Given the description of an element on the screen output the (x, y) to click on. 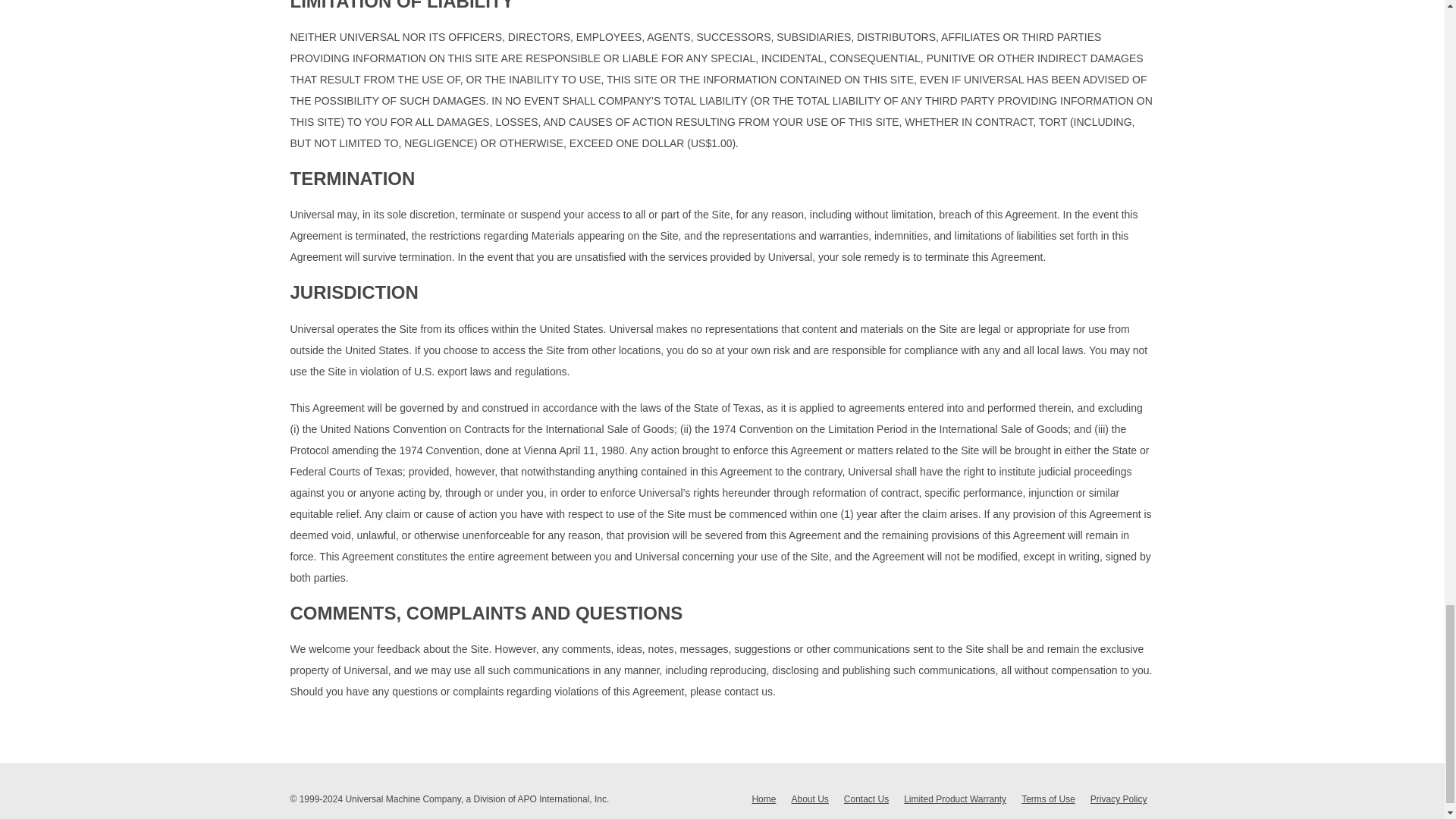
About Us (809, 799)
Limited Product Warranty (955, 799)
Home (763, 799)
Terms of Use (1048, 799)
Privacy Policy (1118, 799)
Contact Us (866, 799)
